Given the description of an element on the screen output the (x, y) to click on. 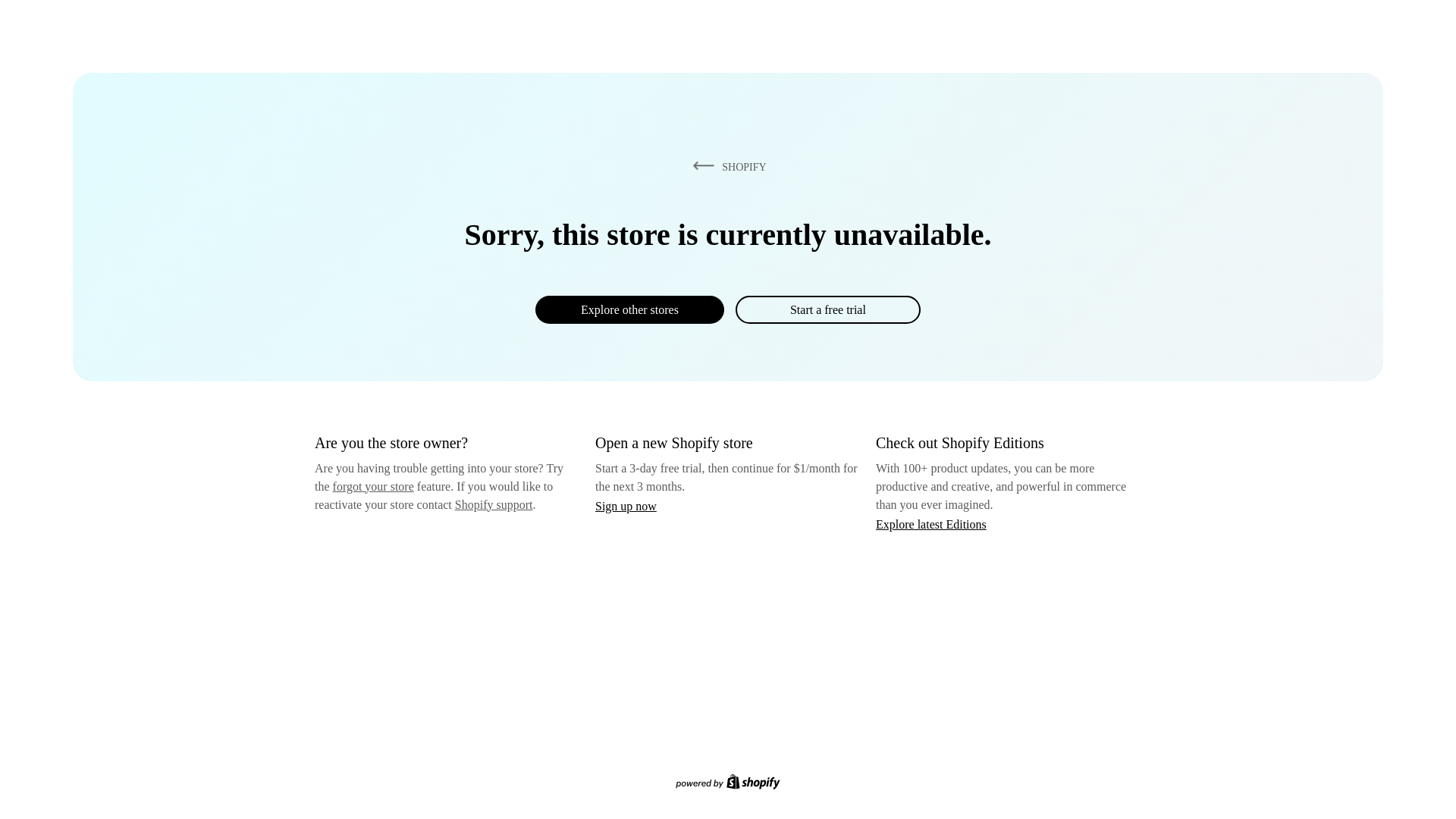
Shopify support (493, 504)
Explore other stores (629, 309)
SHOPIFY (726, 166)
Sign up now (625, 505)
forgot your store (373, 486)
Explore latest Editions (931, 523)
Start a free trial (827, 309)
